Given the description of an element on the screen output the (x, y) to click on. 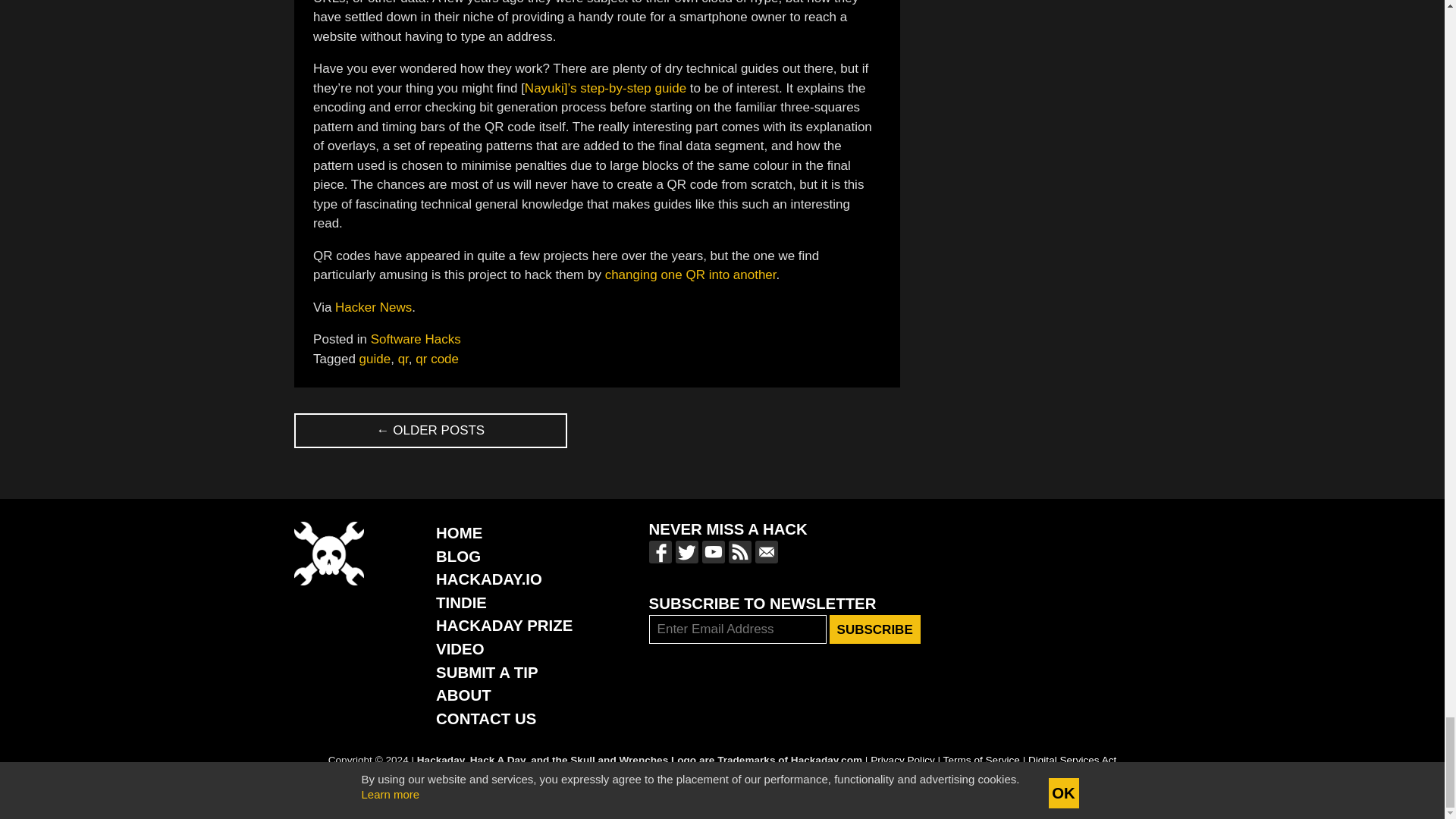
Subscribe (874, 629)
